Given the description of an element on the screen output the (x, y) to click on. 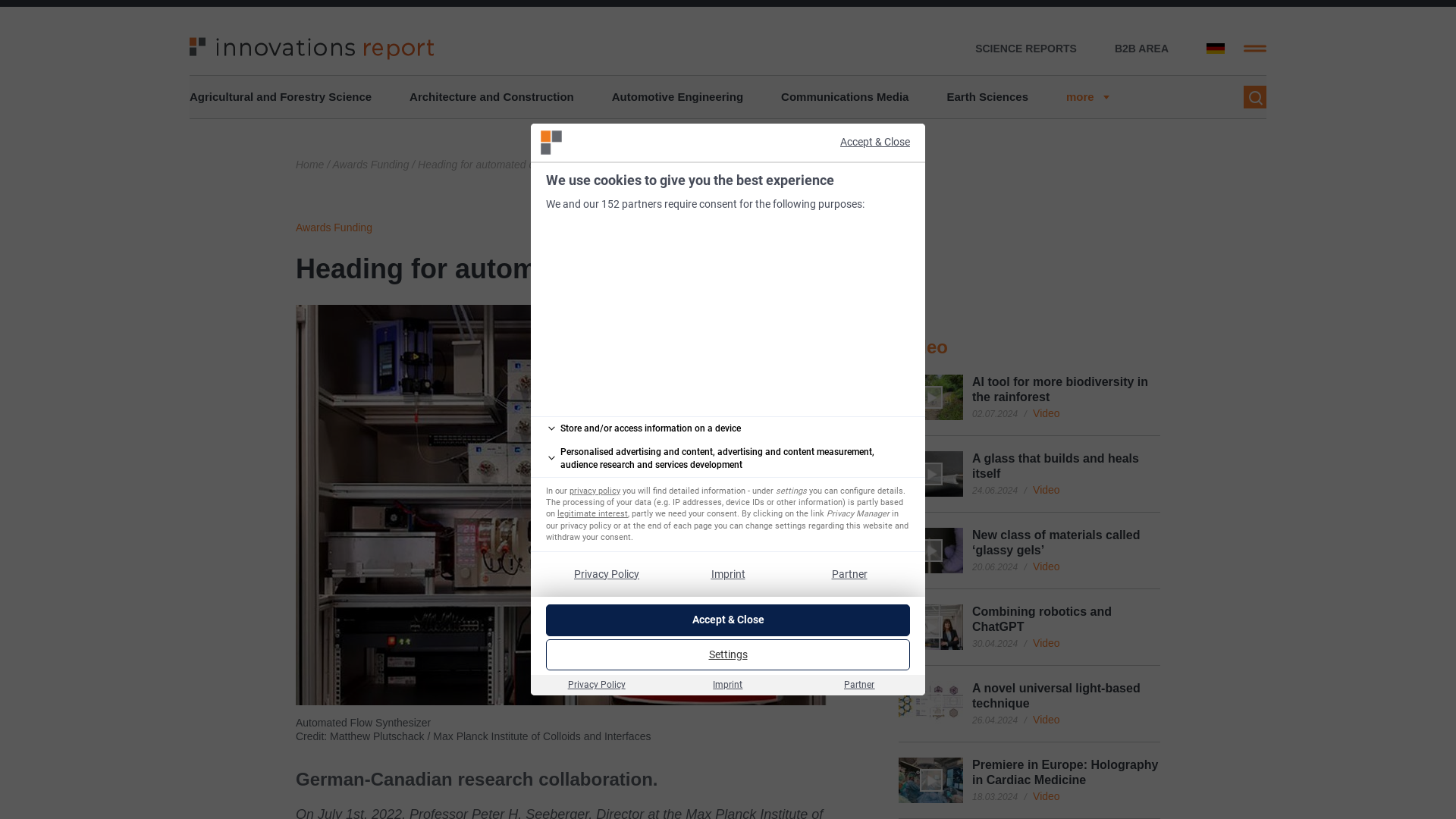
Earth Sciences (986, 96)
Architecture and Construction (491, 96)
B2B AREA (1142, 48)
Agricultural and Forestry Science (280, 96)
SCIENCE REPORTS (1026, 48)
Communications Media (844, 96)
Automotive Engineering (676, 96)
